Given the description of an element on the screen output the (x, y) to click on. 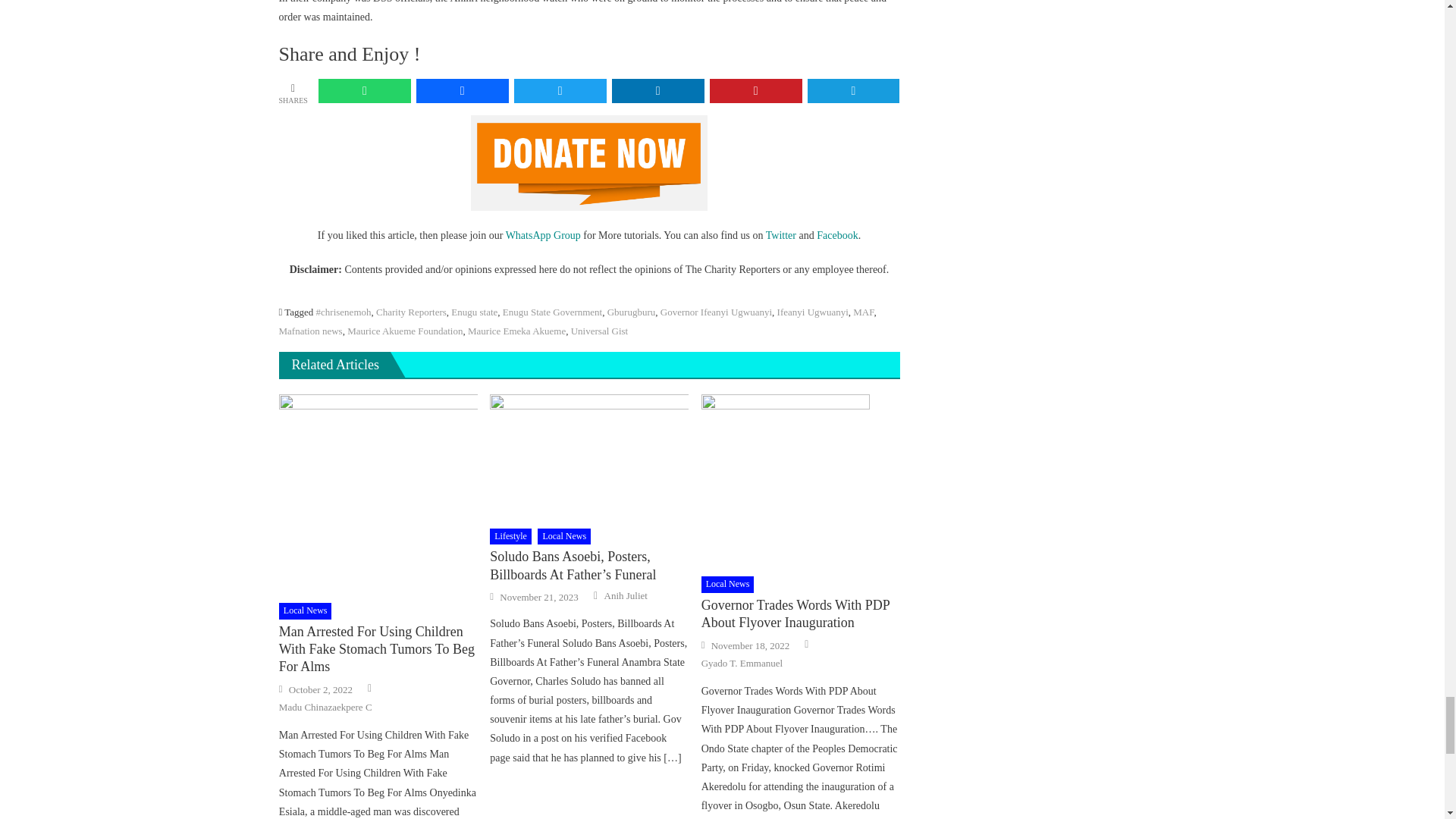
Submit this to Pinterest (756, 90)
Twitter (780, 235)
Subscribe to WPBeginner YouTube Channel (542, 235)
Facebook (836, 235)
Add this to LinkedIn (657, 90)
WhatsApp Group (542, 235)
Join WPBeginner Community on Facebook (836, 235)
WhatsApp (364, 90)
Telegram (853, 90)
Tweet this ! (560, 90)
Share this on Facebook (462, 90)
Follow WPBeginner on Twitter (780, 235)
